Given the description of an element on the screen output the (x, y) to click on. 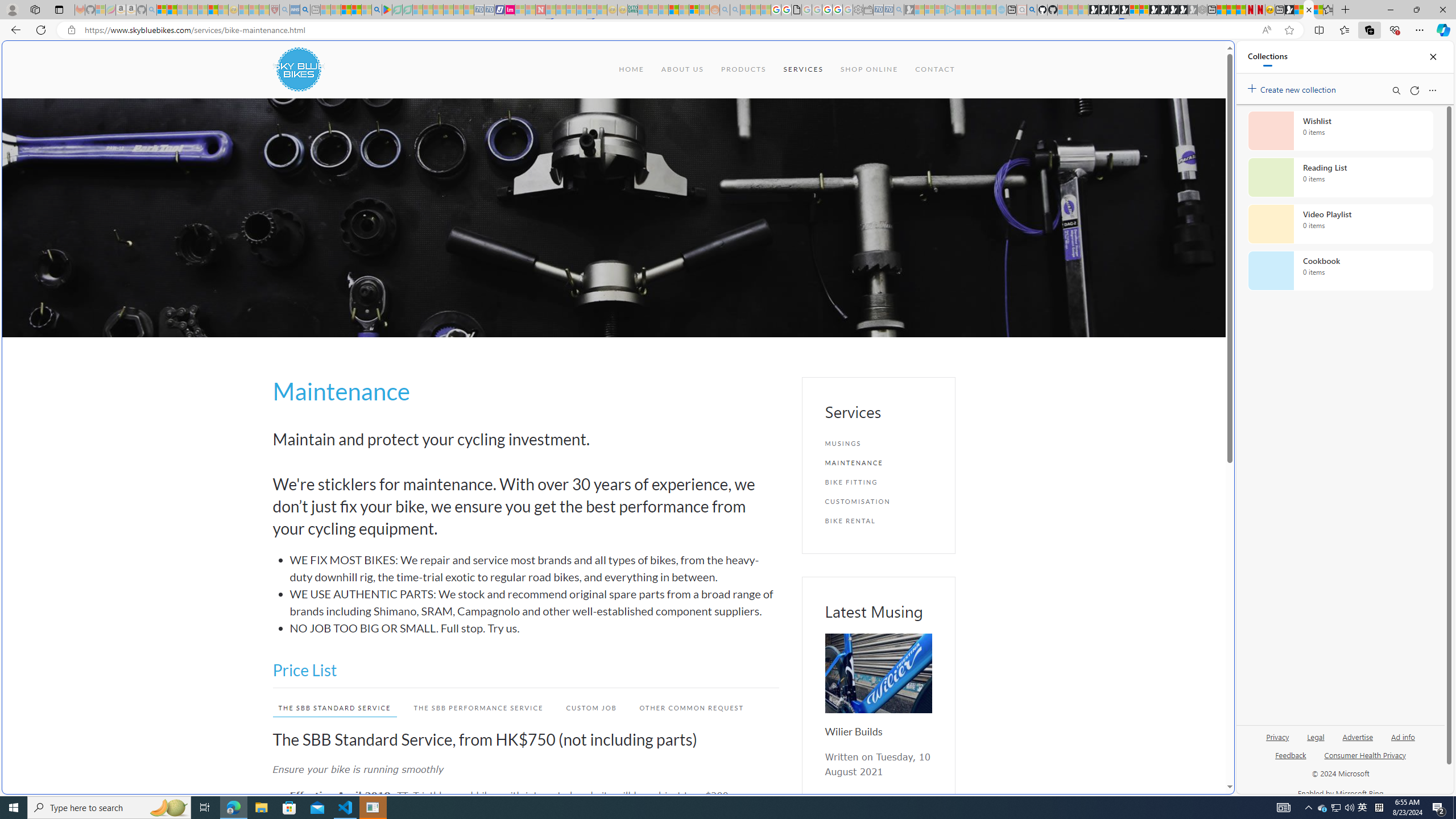
CUSTOM JOB (585, 707)
Consumer Health Privacy (1364, 759)
HOME (631, 68)
Microsoft Start (346, 9)
Copilot (Ctrl+Shift+.) (1442, 29)
MSN (1288, 9)
ABOUT US (681, 68)
PRODUCTS (742, 68)
HOME (631, 68)
BIKE RENTAL (878, 520)
Close split screen (1208, 57)
